Given the description of an element on the screen output the (x, y) to click on. 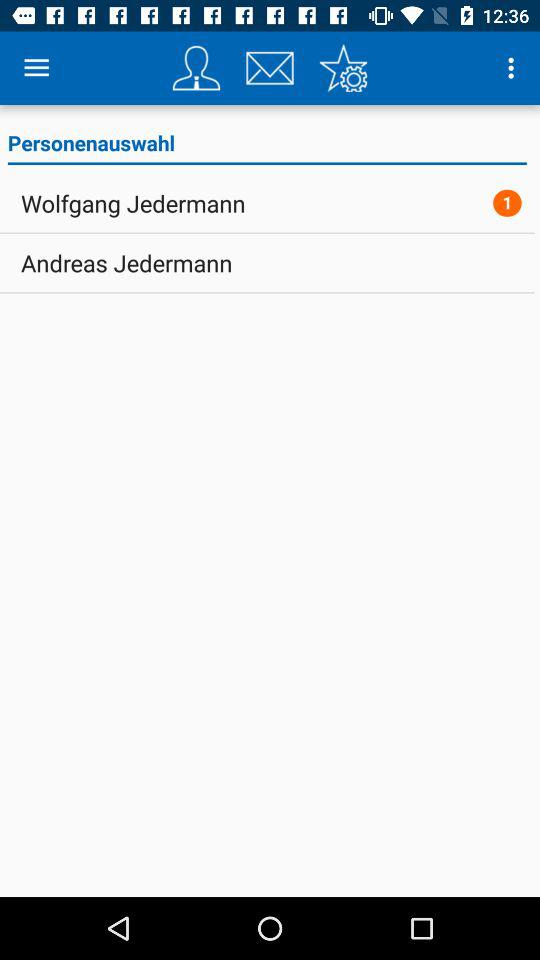
tap item above the andreas jedermann item (133, 203)
